Given the description of an element on the screen output the (x, y) to click on. 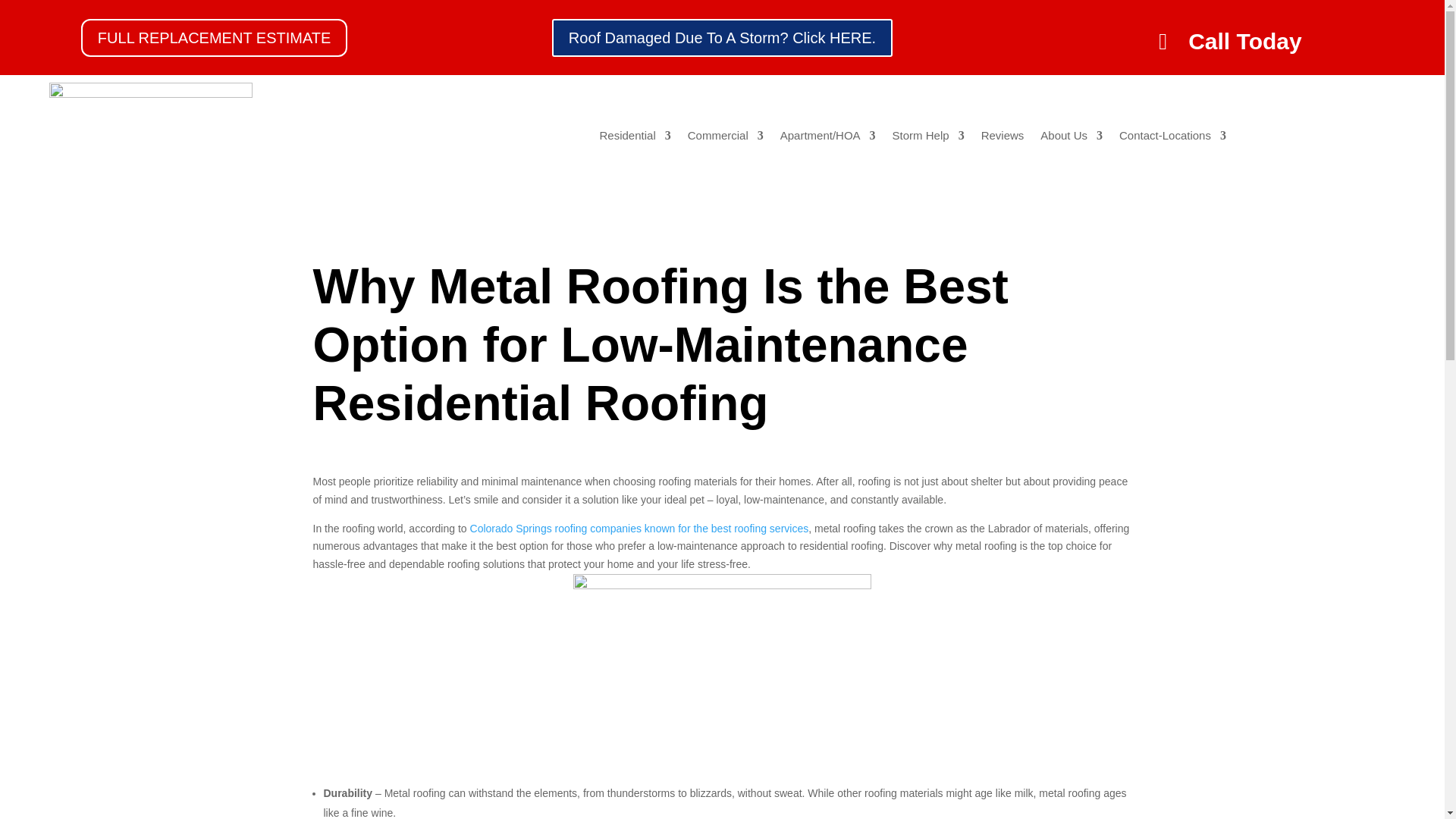
Contact-Locations (1172, 138)
About Us (1071, 138)
Commercial (724, 138)
Reviews (1003, 138)
Storm Help (927, 138)
FULL REPLACEMENT ESTIMATE (214, 37)
Residential (633, 138)
Call Today (1229, 41)
Roof Damaged Due To A Storm? Click HERE. (721, 37)
interstate-logo (150, 135)
